Given the description of an element on the screen output the (x, y) to click on. 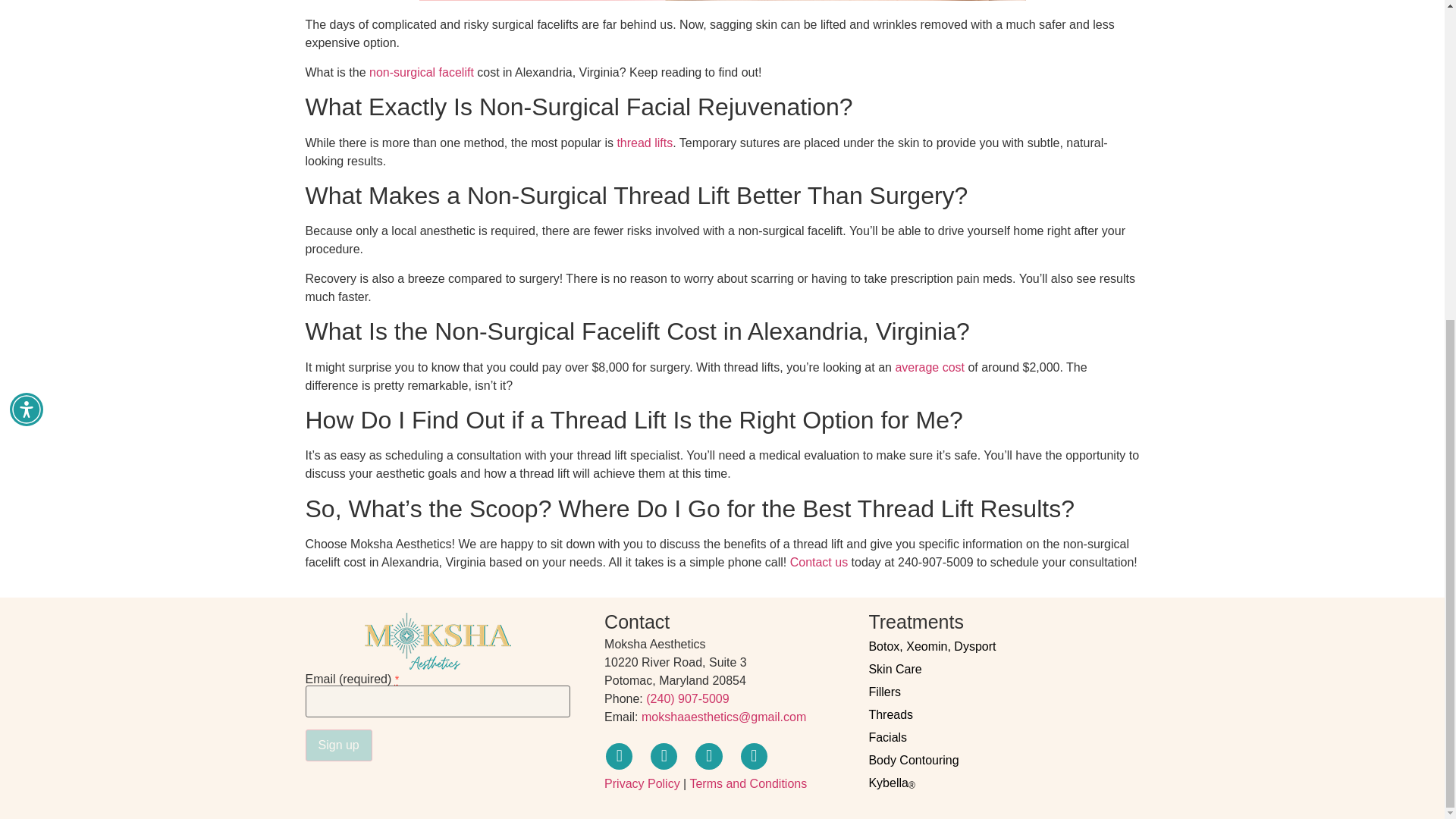
Sign up (337, 745)
